Given the description of an element on the screen output the (x, y) to click on. 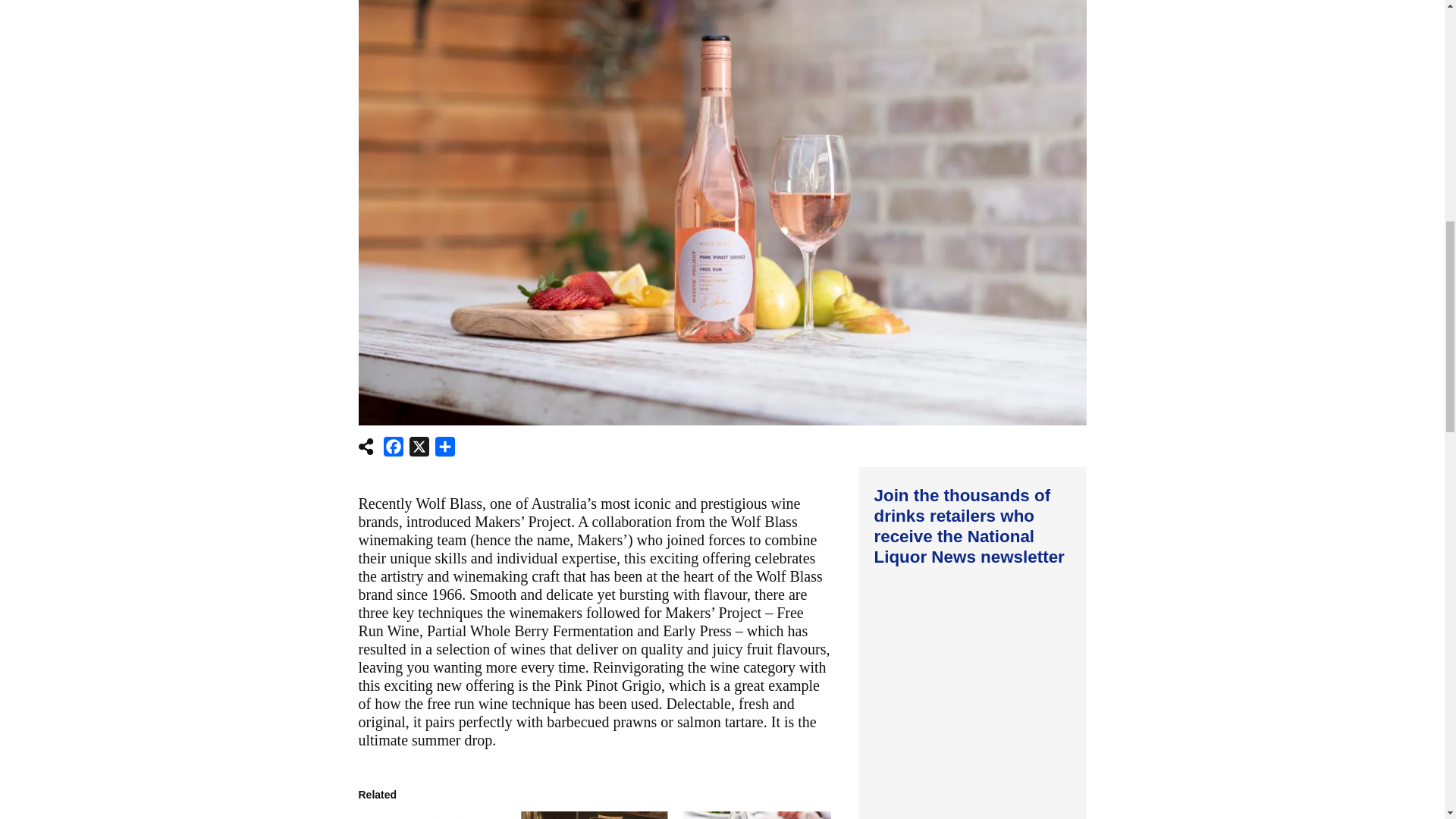
X (419, 449)
TWE extends its Augmented Reality label range (594, 815)
Facebook (393, 449)
